Given the description of an element on the screen output the (x, y) to click on. 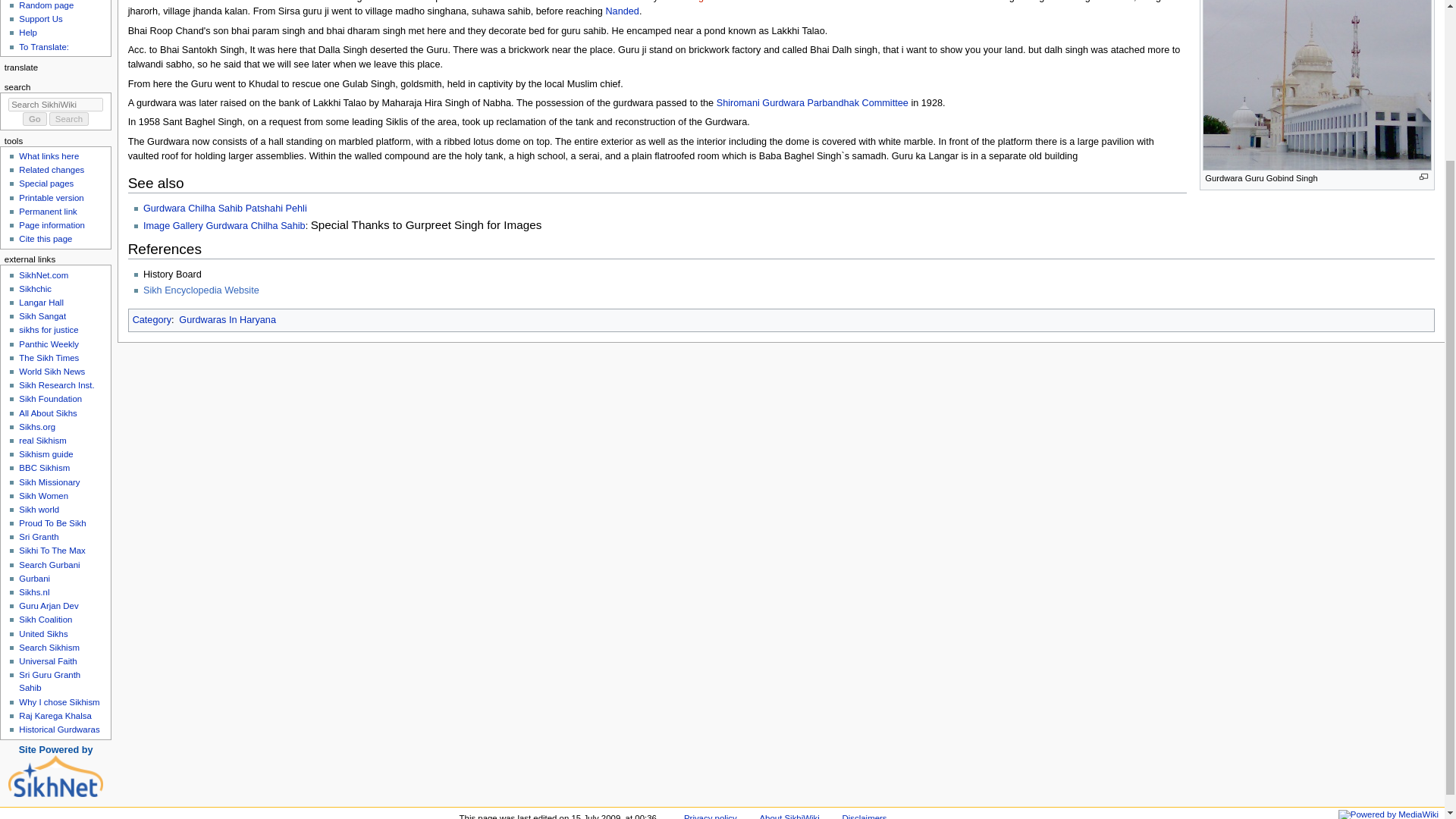
Gurdwaras In Haryana (227, 319)
Sikh Encyclopedia Website (205, 290)
Search (68, 119)
Gurdwara Chilha Sahib Patshahi Pehli (224, 208)
Category:Gurdwaras In Haryana (227, 319)
Sangats (698, 1)
Image Gallery Gurdwara Chilha Sahib (223, 225)
Support Us (40, 18)
Go (34, 119)
Enlarge (1423, 176)
Random page (46, 4)
Special:Categories (151, 319)
Category (151, 319)
Shiromani Gurdwara Parbandhak Committee (812, 102)
Search (68, 119)
